Given the description of an element on the screen output the (x, y) to click on. 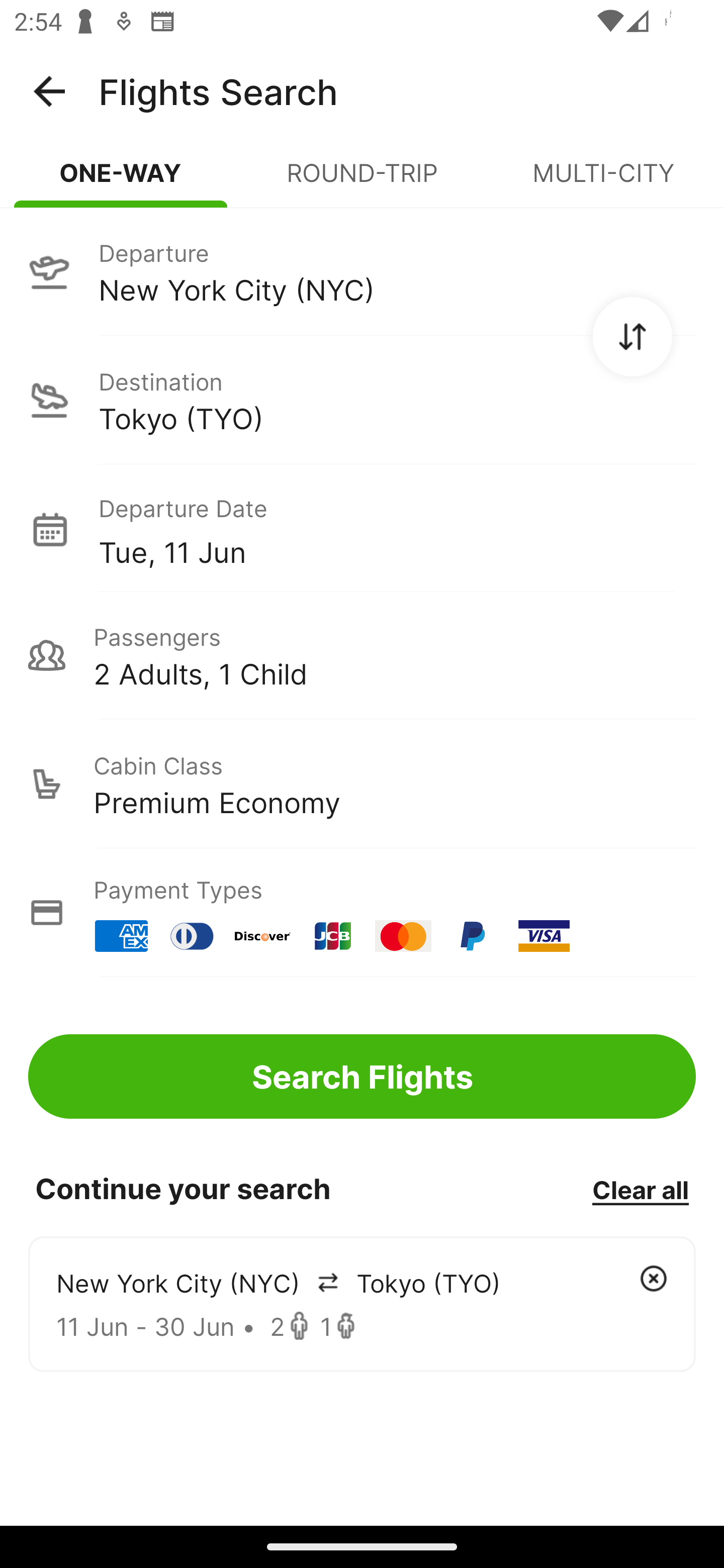
ONE-WAY (120, 180)
ROUND-TRIP (361, 180)
MULTI-CITY (603, 180)
Departure New York City (NYC) (362, 270)
Destination Tokyo (TYO) (362, 400)
Departure Date Tue, 11 Jun (396, 528)
Passengers 2 Adults, 1 Child (362, 655)
Cabin Class Premium Economy (362, 783)
Payment Types (362, 912)
Search Flights (361, 1075)
Clear all (640, 1189)
